Given the description of an element on the screen output the (x, y) to click on. 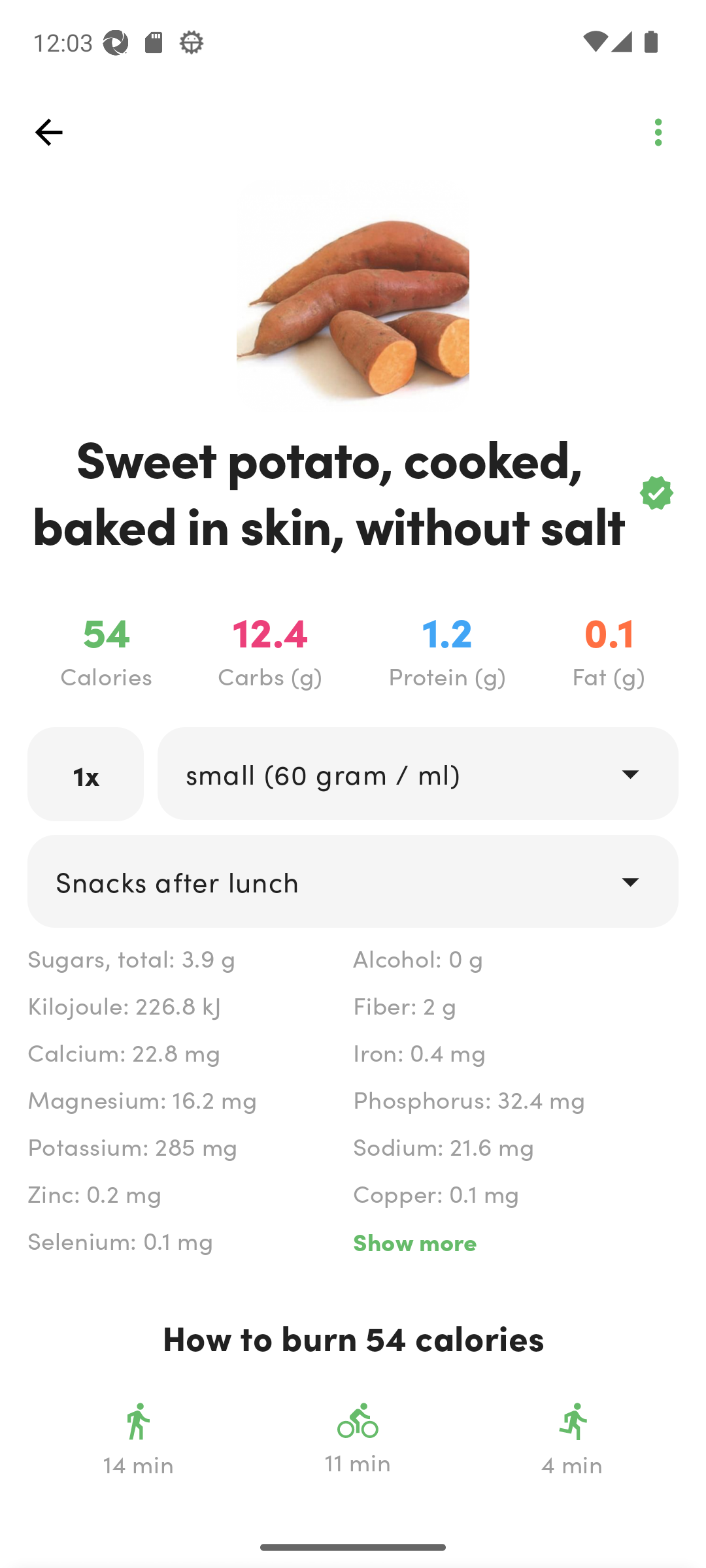
top_left_action (48, 132)
top_left_action (658, 132)
1x labeled_edit_text (85, 774)
drop_down small (60 gram / ml) (417, 773)
drop_down Snacks after lunch (352, 881)
Show more (515, 1240)
